Given the description of an element on the screen output the (x, y) to click on. 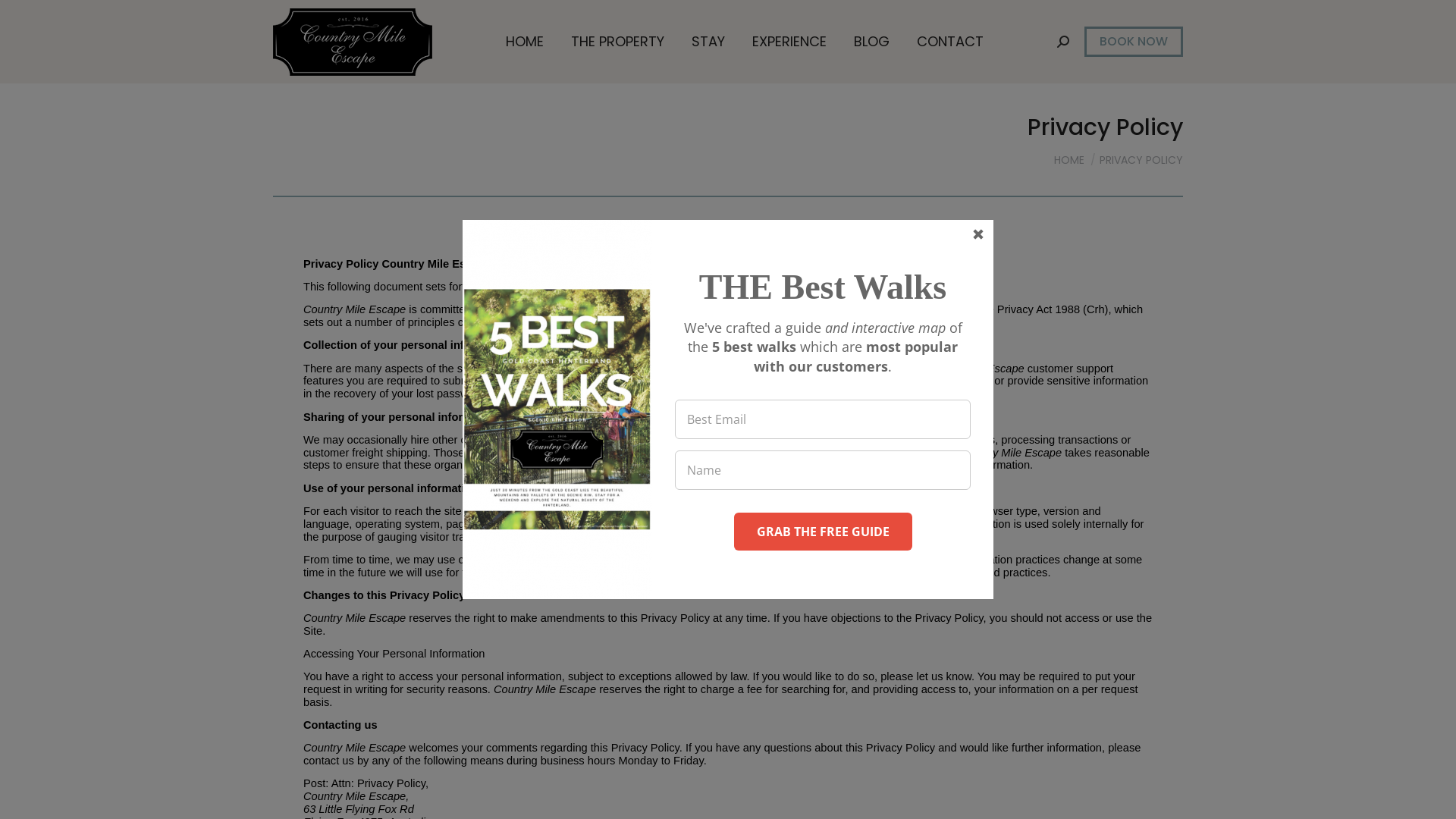
BLOG Element type: text (871, 41)
HOME Element type: text (1069, 158)
THE PROPERTY Element type: text (617, 41)
HOME Element type: text (524, 41)
Go! Element type: text (28, 16)
EXPERIENCE Element type: text (789, 41)
CONTACT Element type: text (949, 41)
STAY Element type: text (708, 41)
BOOK NOW Element type: text (1133, 41)
